Given the description of an element on the screen output the (x, y) to click on. 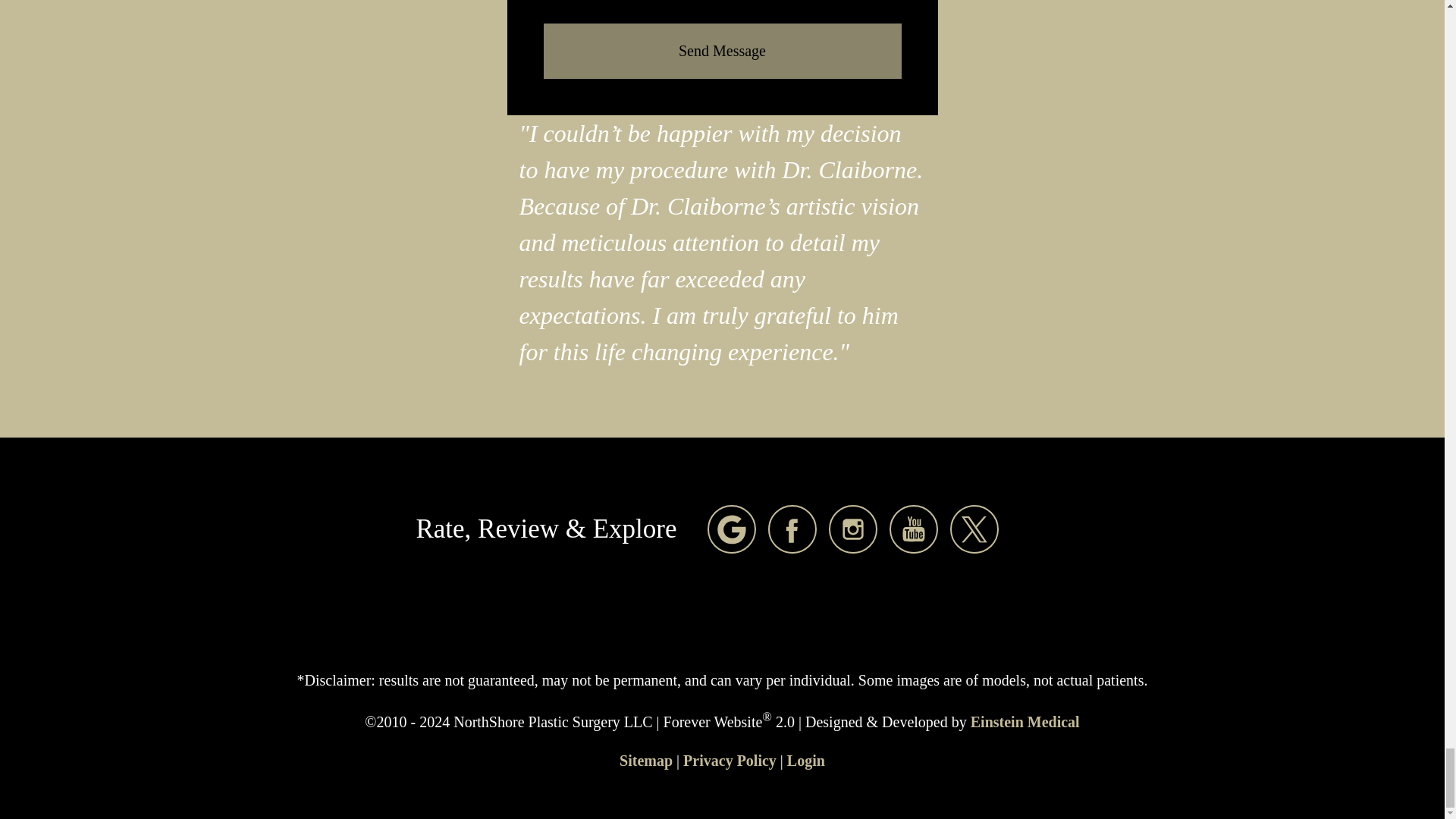
YouTube (913, 529)
Facebook (792, 529)
Instagram (852, 529)
Google (731, 529)
Twitter (974, 529)
